Given the description of an element on the screen output the (x, y) to click on. 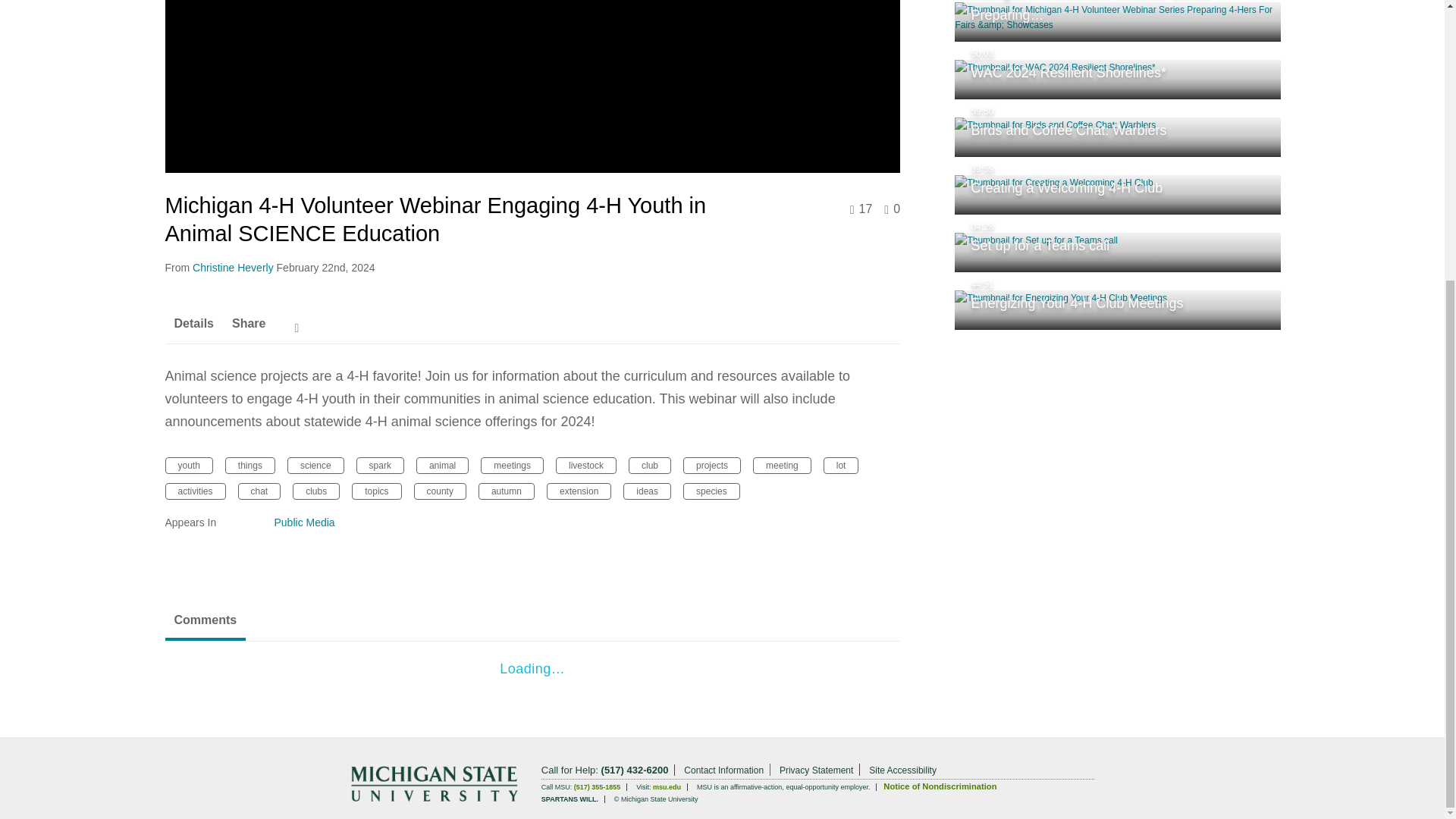
Set up for a Teams call (1118, 251)
Birds and Coffee Chat: Warblers (1118, 137)
Appears In (210, 522)
The Kaltura Dynamic Video Player (533, 85)
Creating a Welcoming 4-H Club (1118, 194)
Energizing Your 4-H Club Meetings (1118, 310)
